Given the description of an element on the screen output the (x, y) to click on. 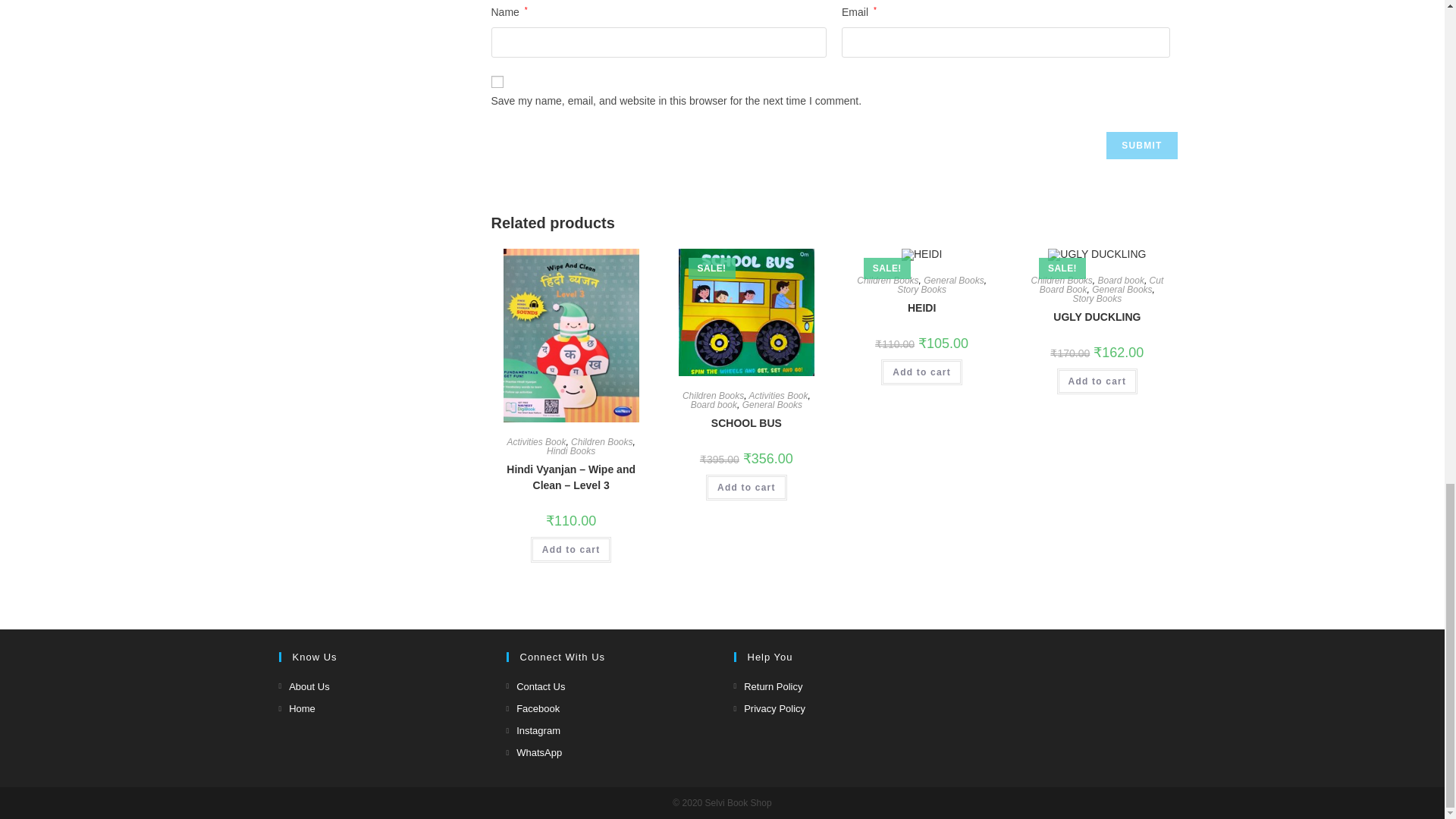
Submit (1141, 144)
yes (497, 81)
Submit (1141, 144)
